Given the description of an element on the screen output the (x, y) to click on. 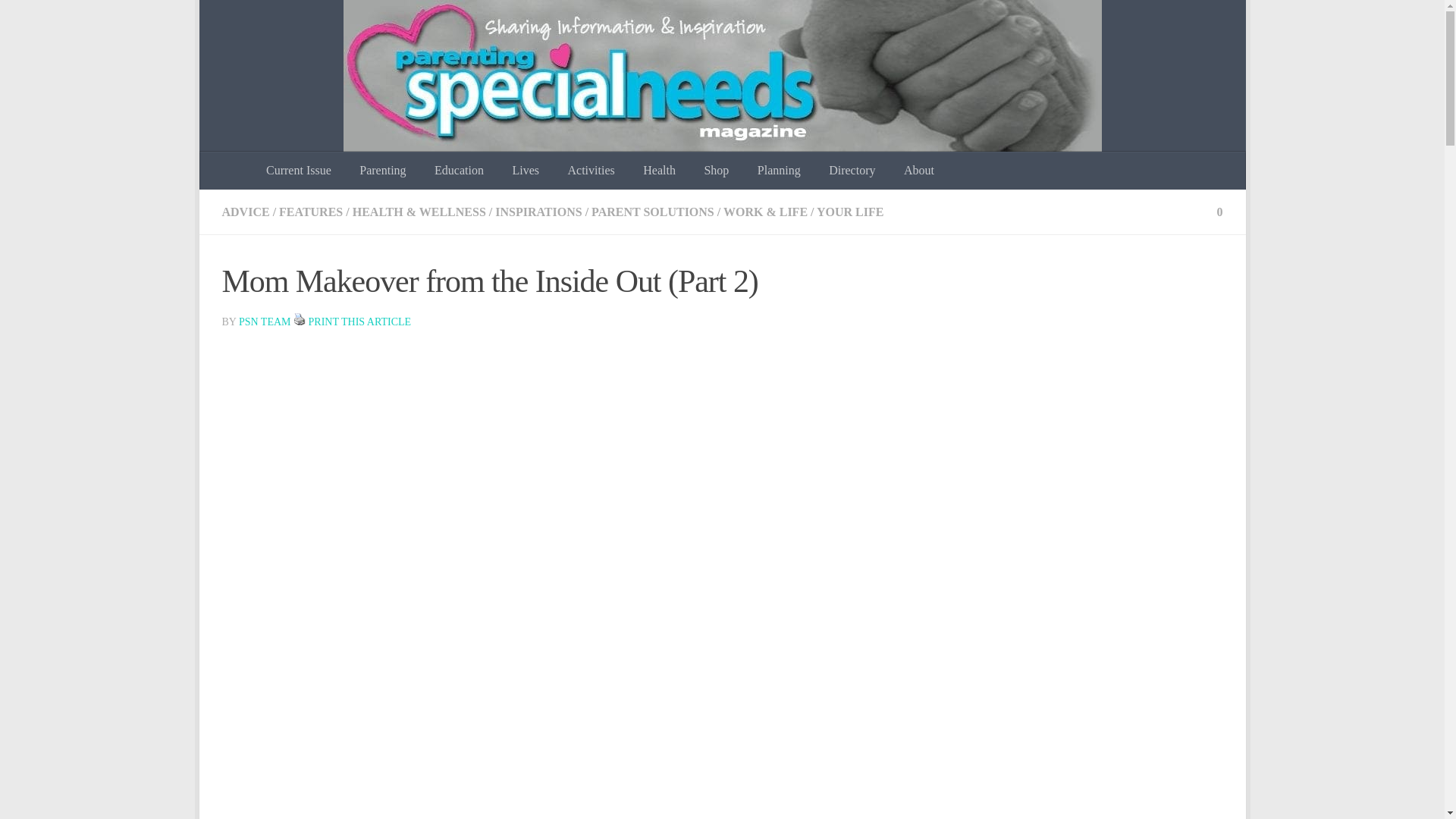
Skip to content (258, 20)
Posts by PSN Team (264, 321)
Print This Article (299, 321)
Print This Article (360, 321)
Print This Article (299, 318)
